Given the description of an element on the screen output the (x, y) to click on. 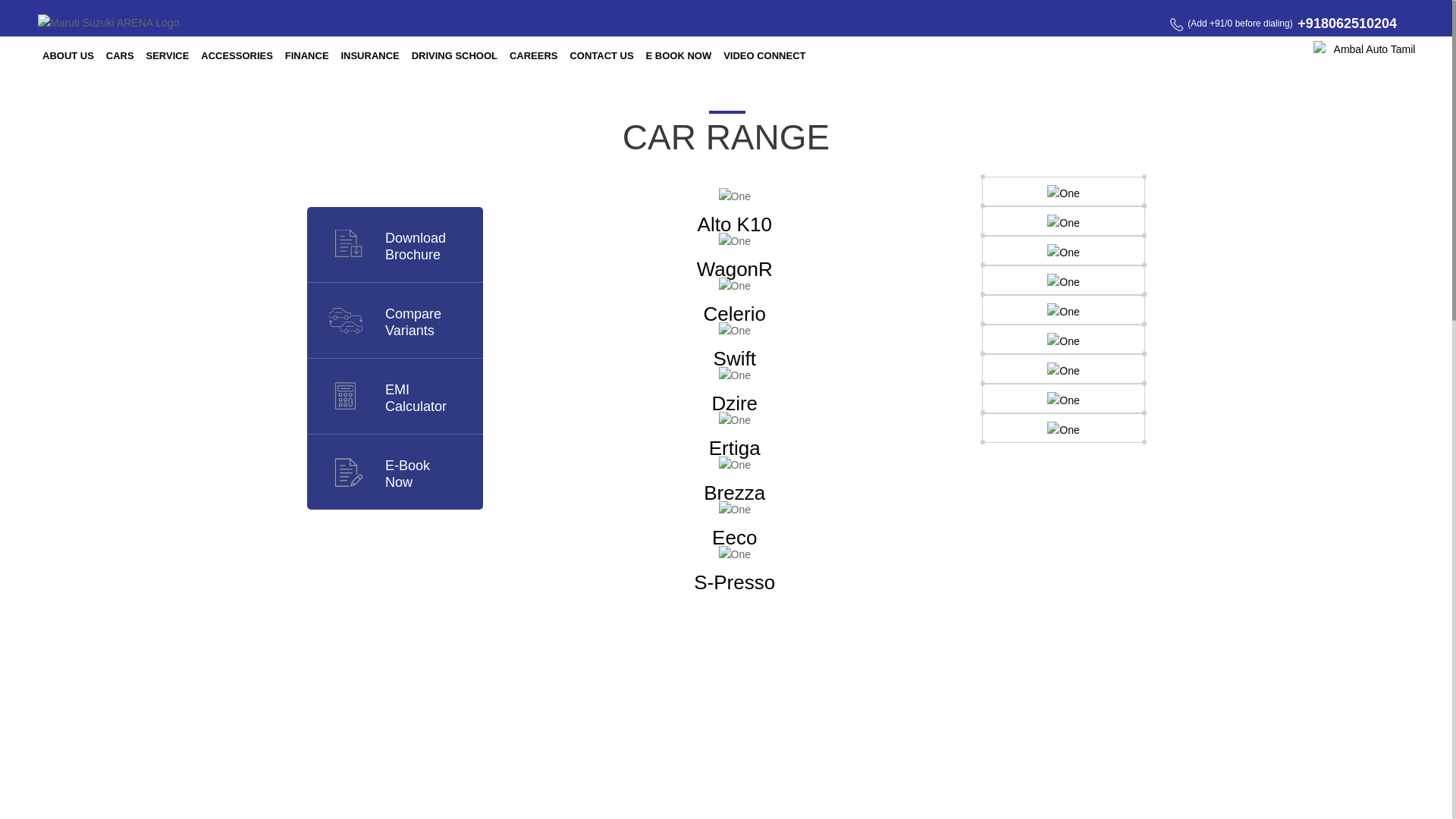
CARS (415, 398)
CAREERS (119, 54)
CONTACT US (533, 54)
VIDEO CONNECT (413, 322)
FINANCE (600, 54)
DRIVING SCHOOL (407, 473)
SERVICE (764, 54)
INSURANCE (307, 54)
ABOUT US (454, 54)
E BOOK NOW (167, 54)
ACCESSORIES (369, 54)
